Given the description of an element on the screen output the (x, y) to click on. 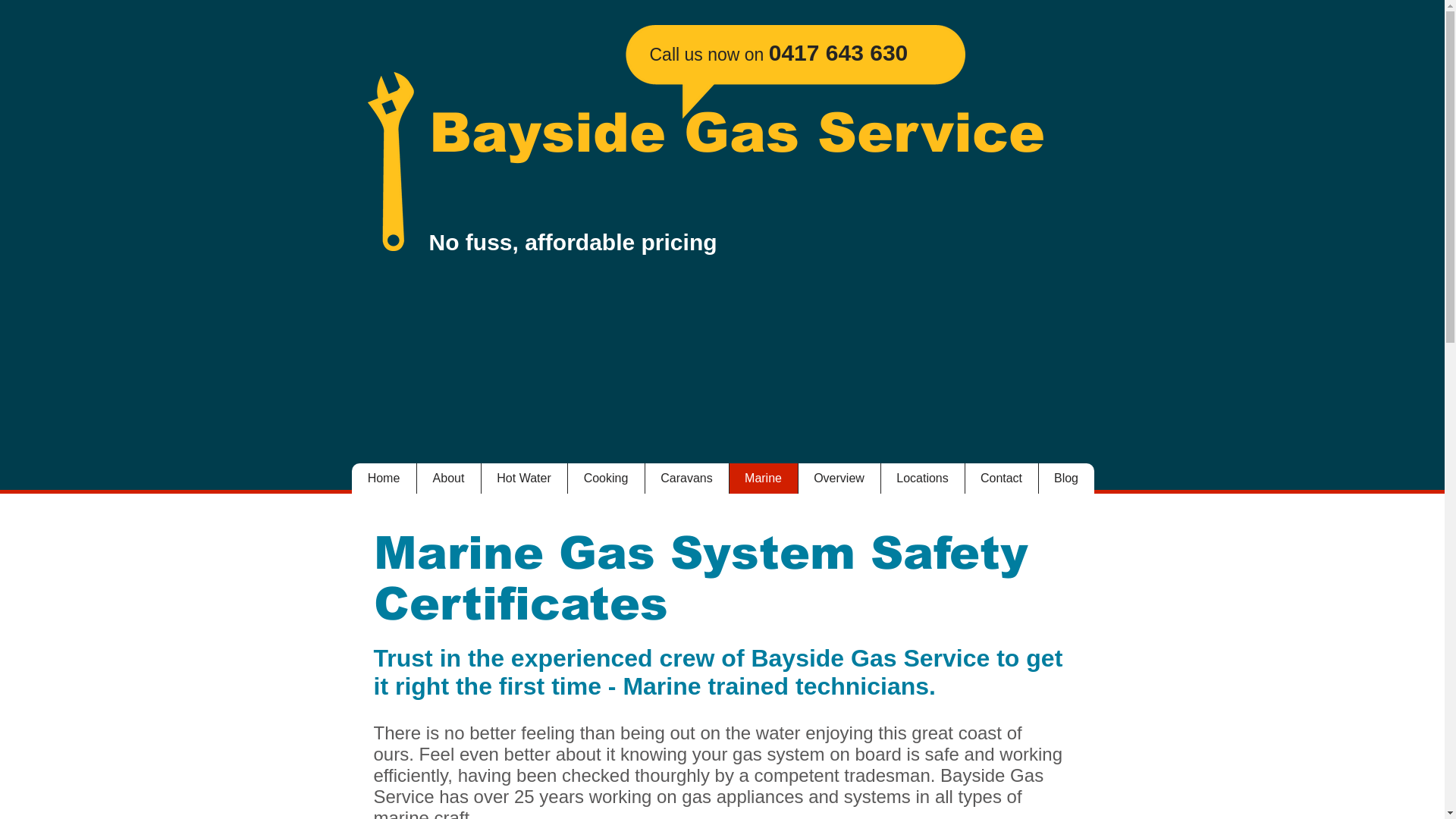
Hot Water Element type: text (523, 478)
Marine Element type: text (762, 478)
Blog Element type: text (1065, 478)
Home Element type: text (383, 478)
Cooking Element type: text (605, 478)
Caravans Element type: text (686, 478)
Overview Element type: text (838, 478)
About Element type: text (447, 478)
Contact Element type: text (1001, 478)
Locations Element type: text (921, 478)
